Given the description of an element on the screen output the (x, y) to click on. 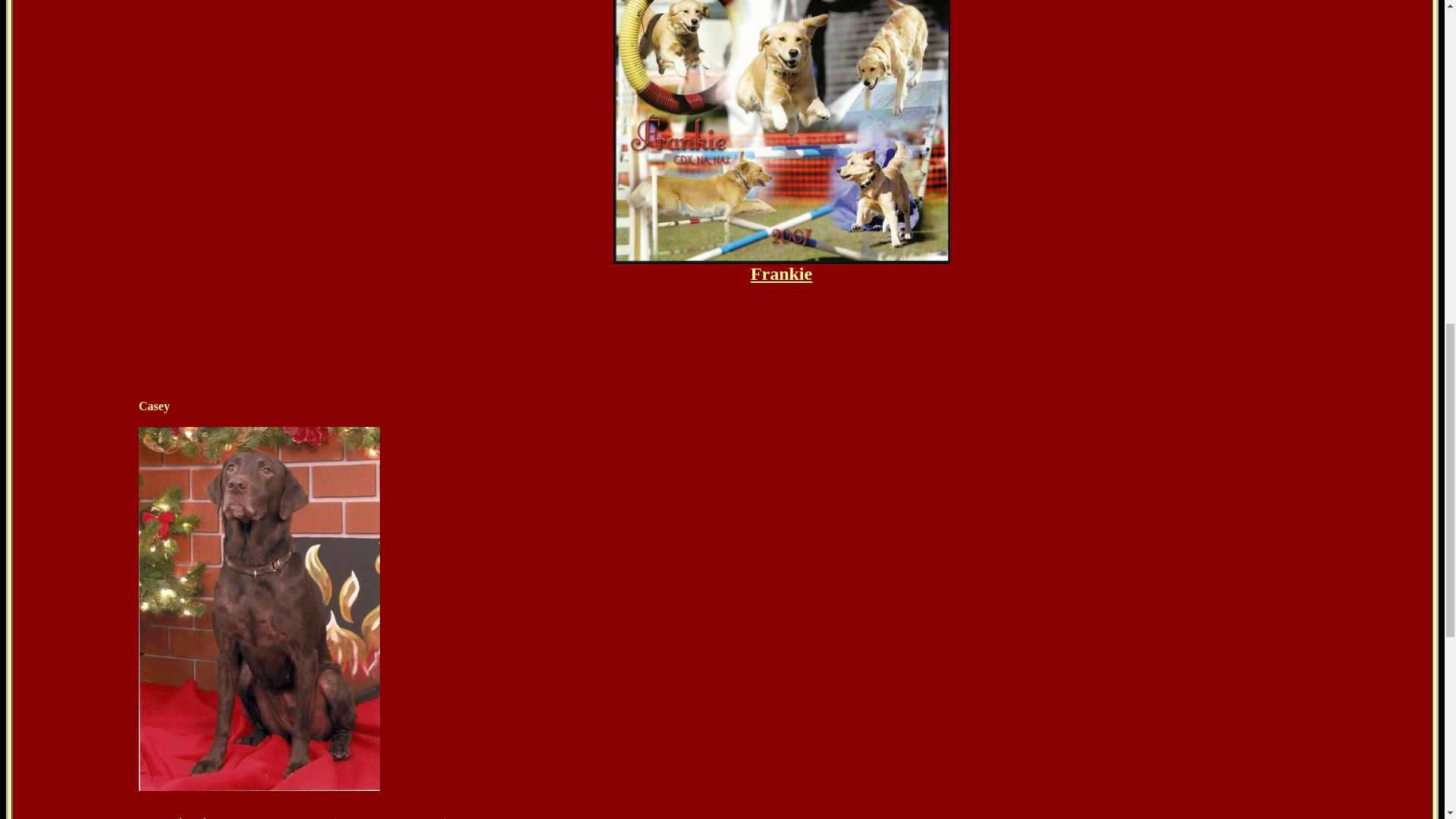
Frankie (781, 273)
